Given the description of an element on the screen output the (x, y) to click on. 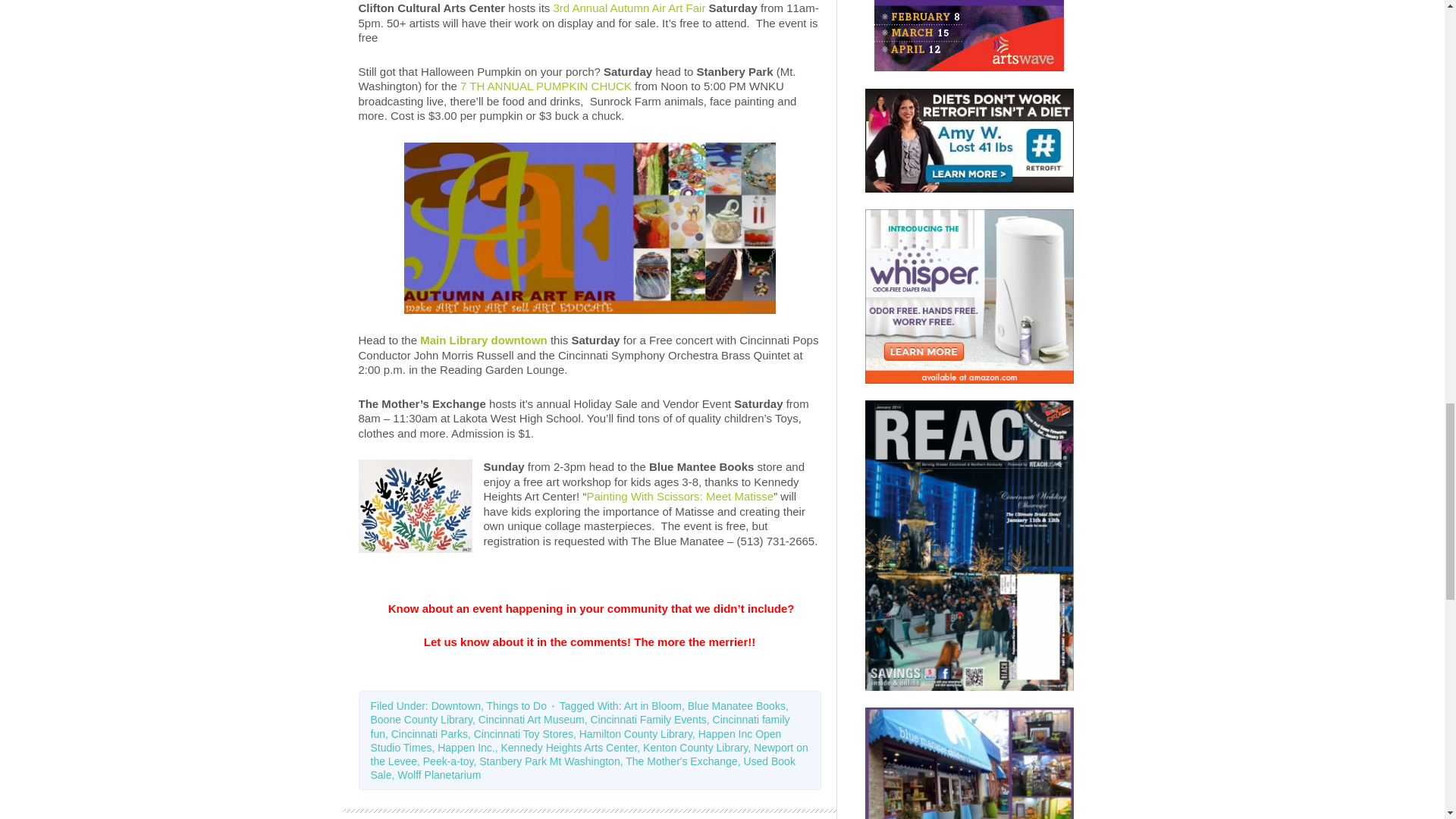
xmatisse.jpg.pagespeed.ic.jLxd6C1tg7 (414, 505)
